Given the description of an element on the screen output the (x, y) to click on. 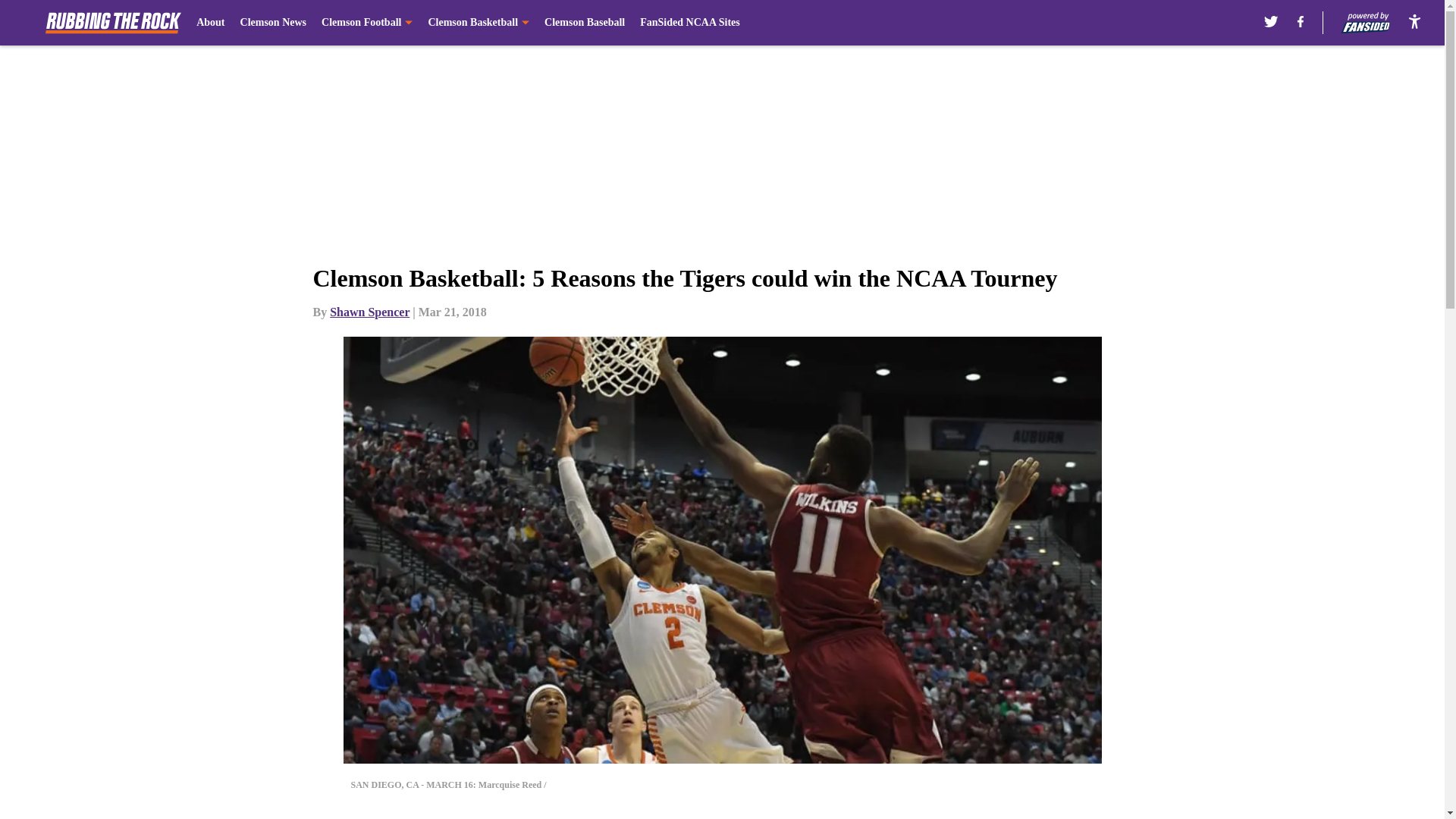
FanSided NCAA Sites (689, 22)
Clemson News (273, 22)
Shawn Spencer (369, 311)
Clemson Baseball (584, 22)
About (210, 22)
